Given the description of an element on the screen output the (x, y) to click on. 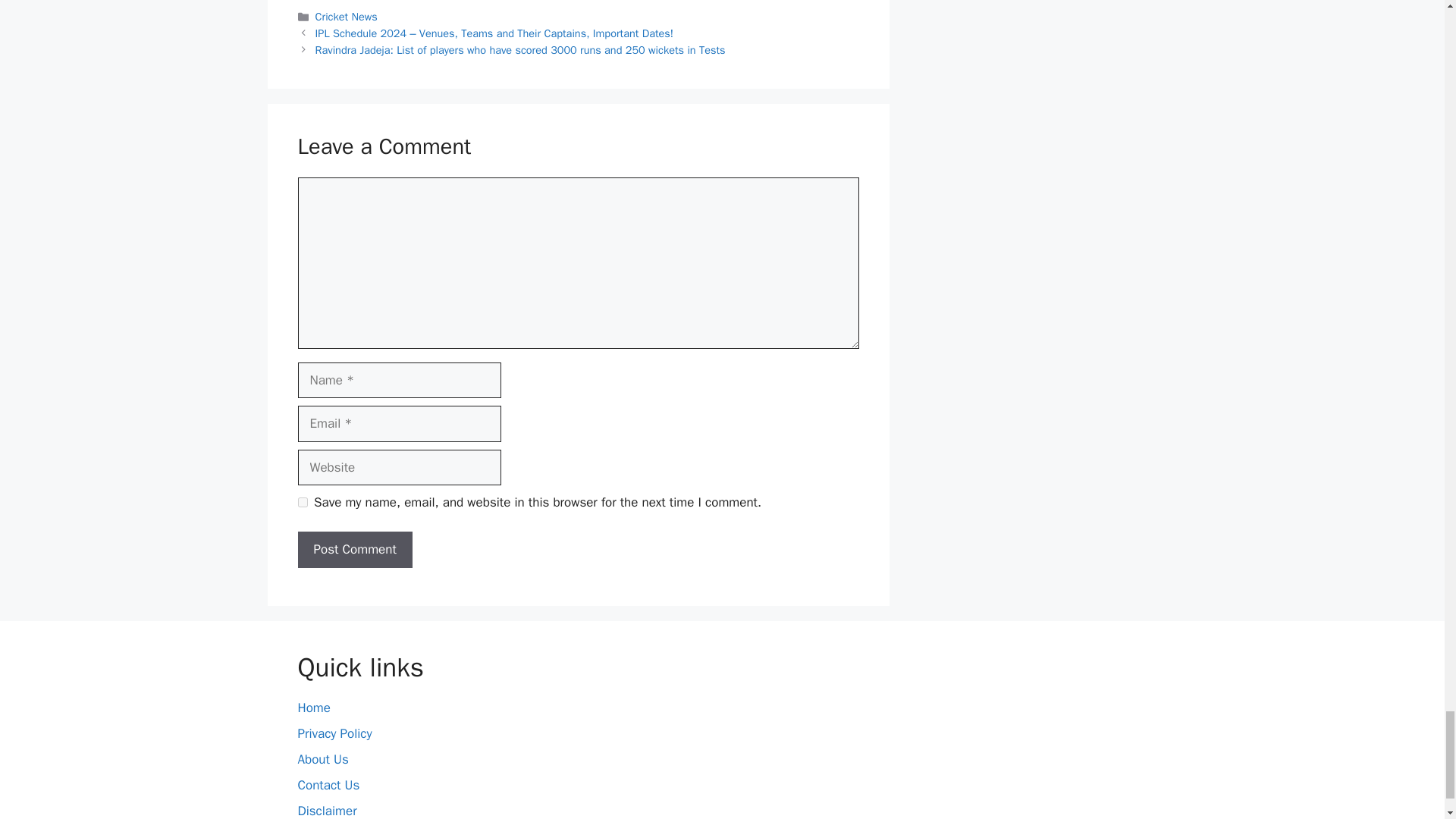
Cricket News (346, 16)
Privacy Policy (334, 733)
About Us (322, 759)
Post Comment (354, 549)
yes (302, 501)
Post Comment (354, 549)
Home (313, 707)
Contact Us (328, 785)
Disclaimer (326, 811)
